Given the description of an element on the screen output the (x, y) to click on. 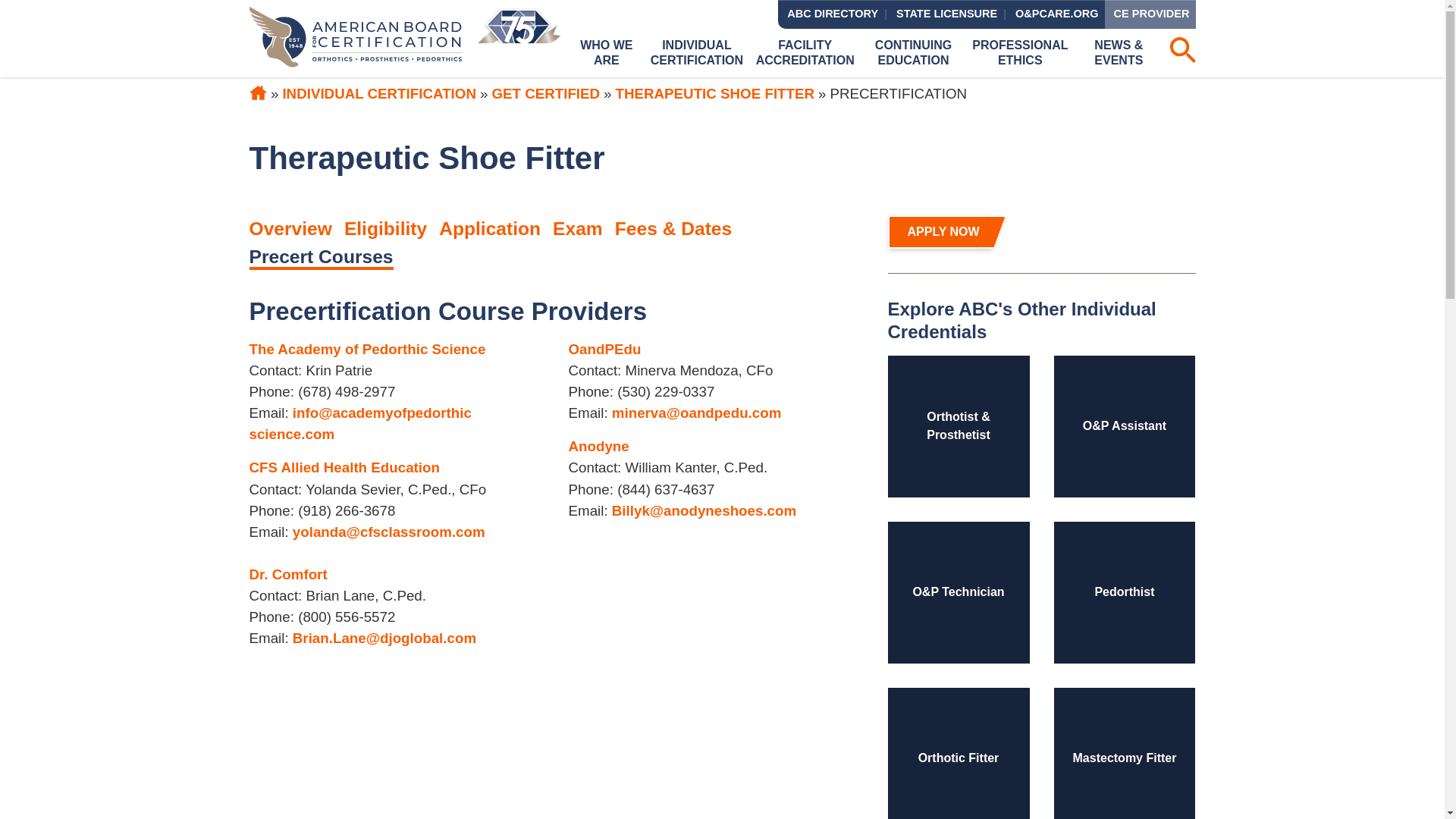
75-year-diamond (519, 36)
Home (355, 36)
STATE LICENSURE (944, 14)
INDIVIDUAL CERTIFICATION (696, 52)
ABC DIRECTORY (830, 14)
CE PROVIDER (1150, 14)
FACILITY ACCREDITATION (804, 52)
Return to Homepage (257, 92)
WHO WE ARE (607, 52)
